Given the description of an element on the screen output the (x, y) to click on. 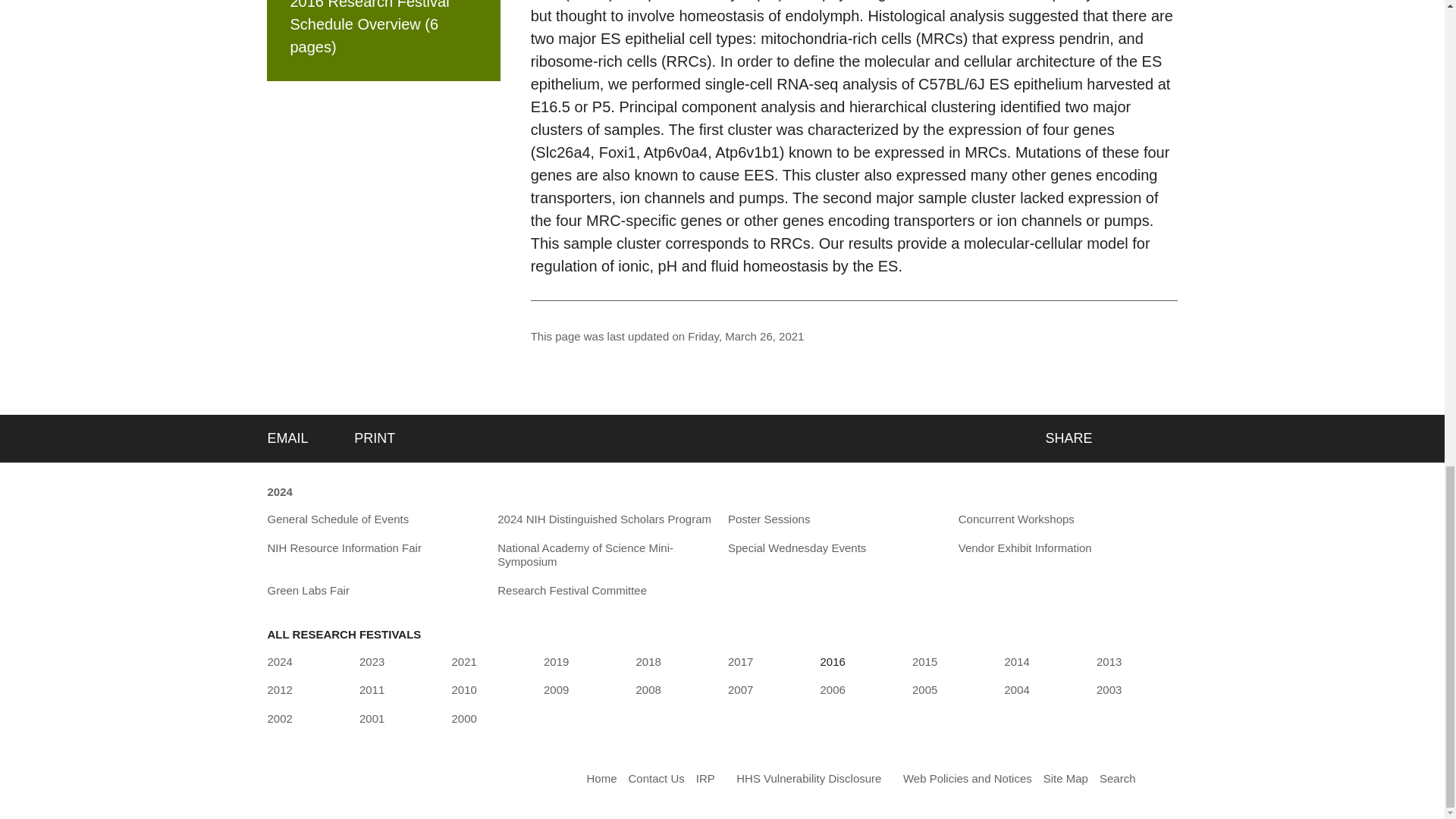
2024 NIH Research Festival (279, 492)
Concurrent Workshops (1016, 519)
Special Wednesday Events (797, 548)
National Academy of Science Mini-Symposium  (606, 554)
2024 NIH Research Festival (279, 661)
2024 NIH Distinguished Scholars Program (604, 519)
